Given the description of an element on the screen output the (x, y) to click on. 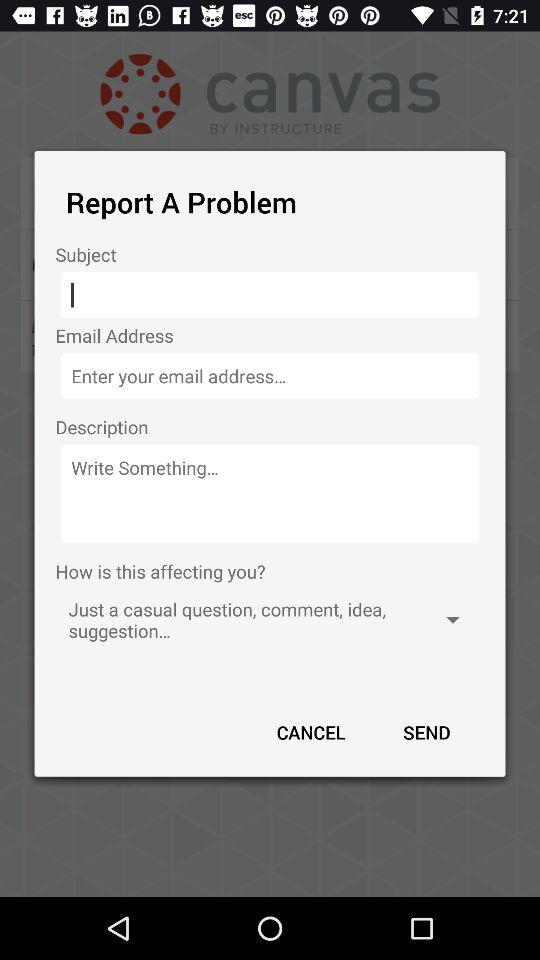
press the send item (426, 732)
